Given the description of an element on the screen output the (x, y) to click on. 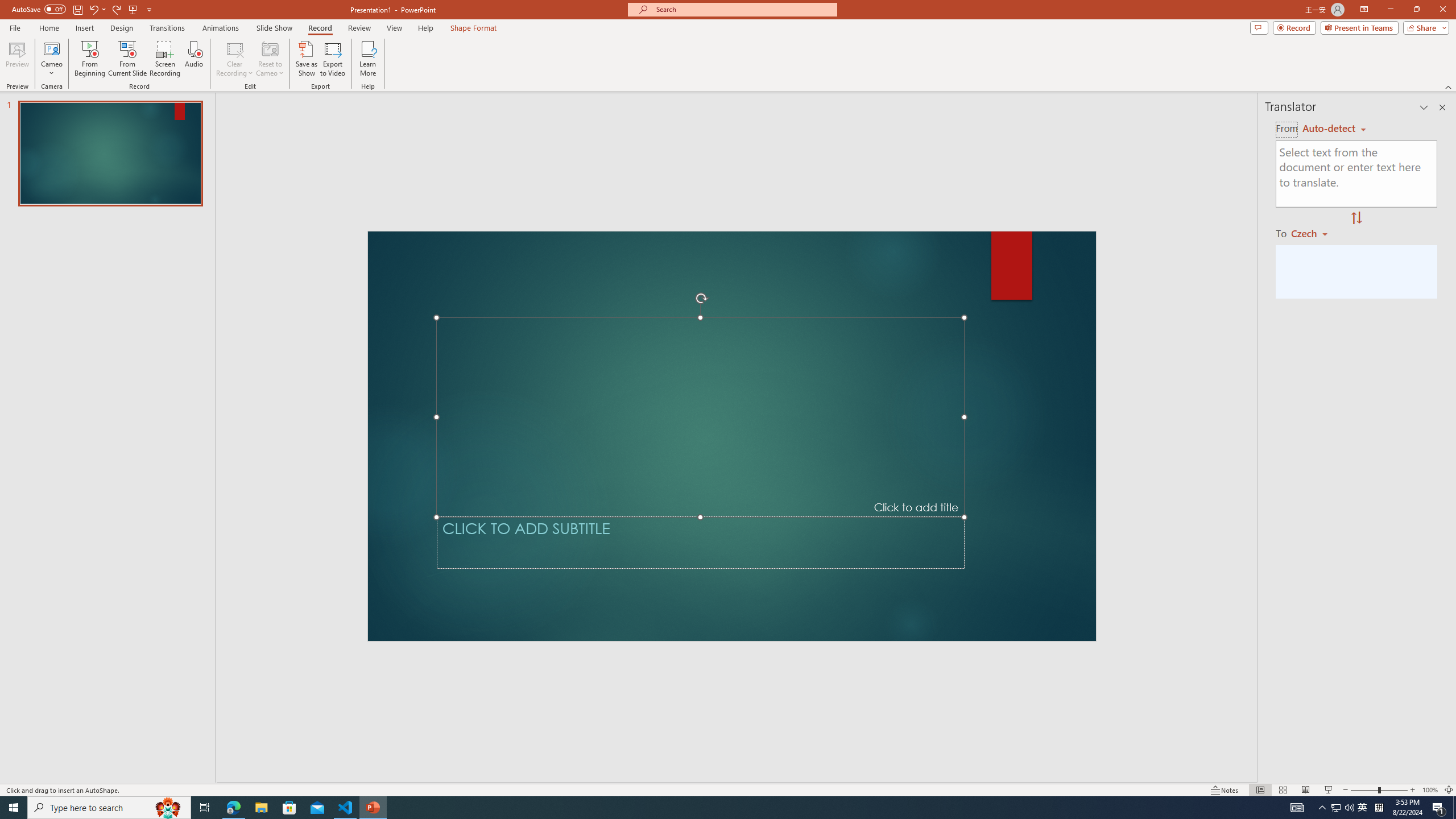
Swap "from" and "to" languages. (1355, 218)
Subtitle TextBox (699, 542)
Notes  (1225, 790)
Slide (110, 153)
